Given the description of an element on the screen output the (x, y) to click on. 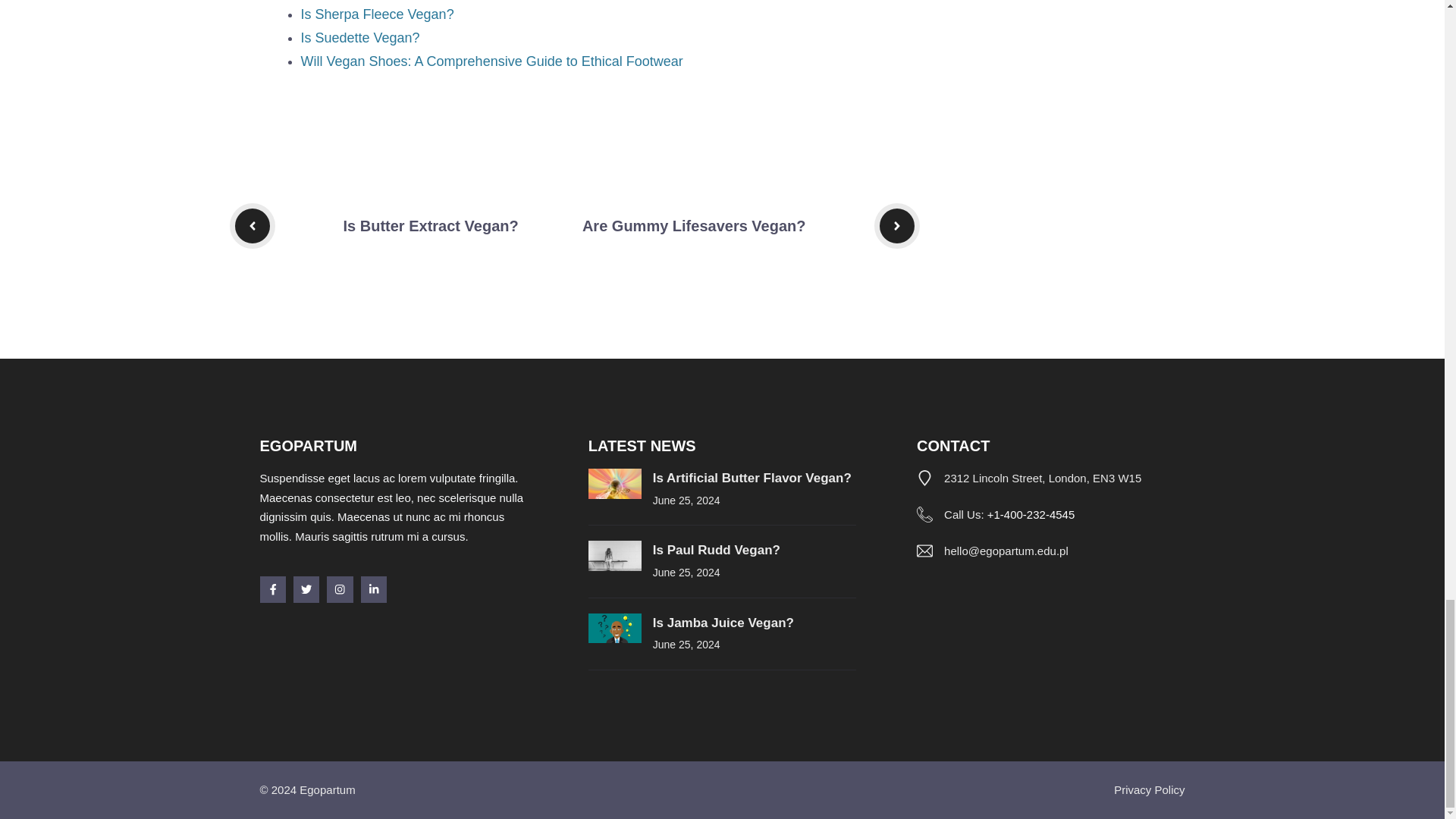
Are Gummy Lifesavers Vegan? (694, 225)
Is Sherpa Fleece Vegan? (375, 14)
Is Suedette Vegan? (359, 37)
Will Vegan Shoes: A Comprehensive Guide to Ethical Footwear (490, 61)
Is Butter Extract Vegan? (430, 225)
